Given the description of an element on the screen output the (x, y) to click on. 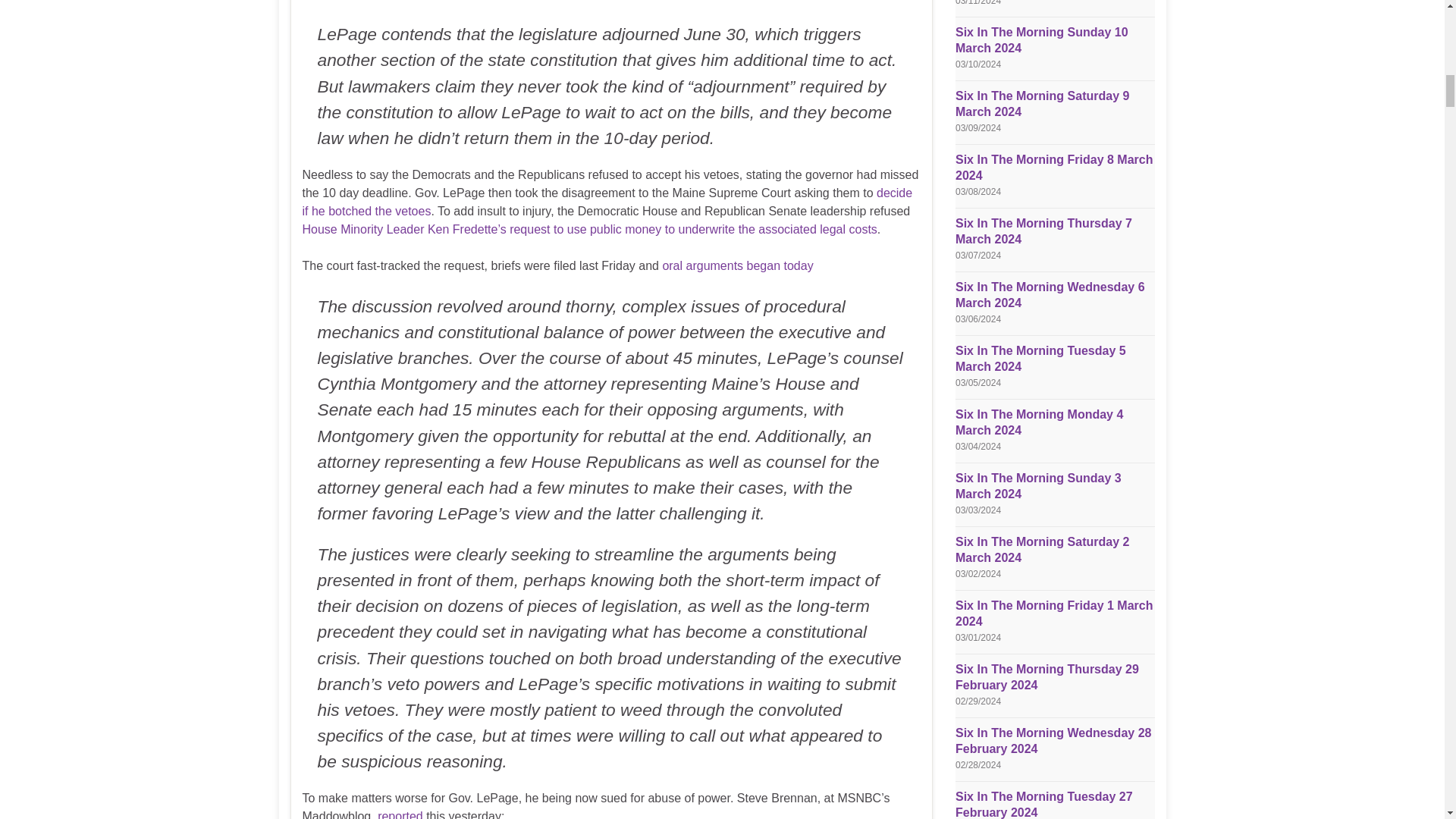
oral arguments began today (737, 265)
decide if he botched the vetoes (606, 201)
reported (400, 814)
